Given the description of an element on the screen output the (x, y) to click on. 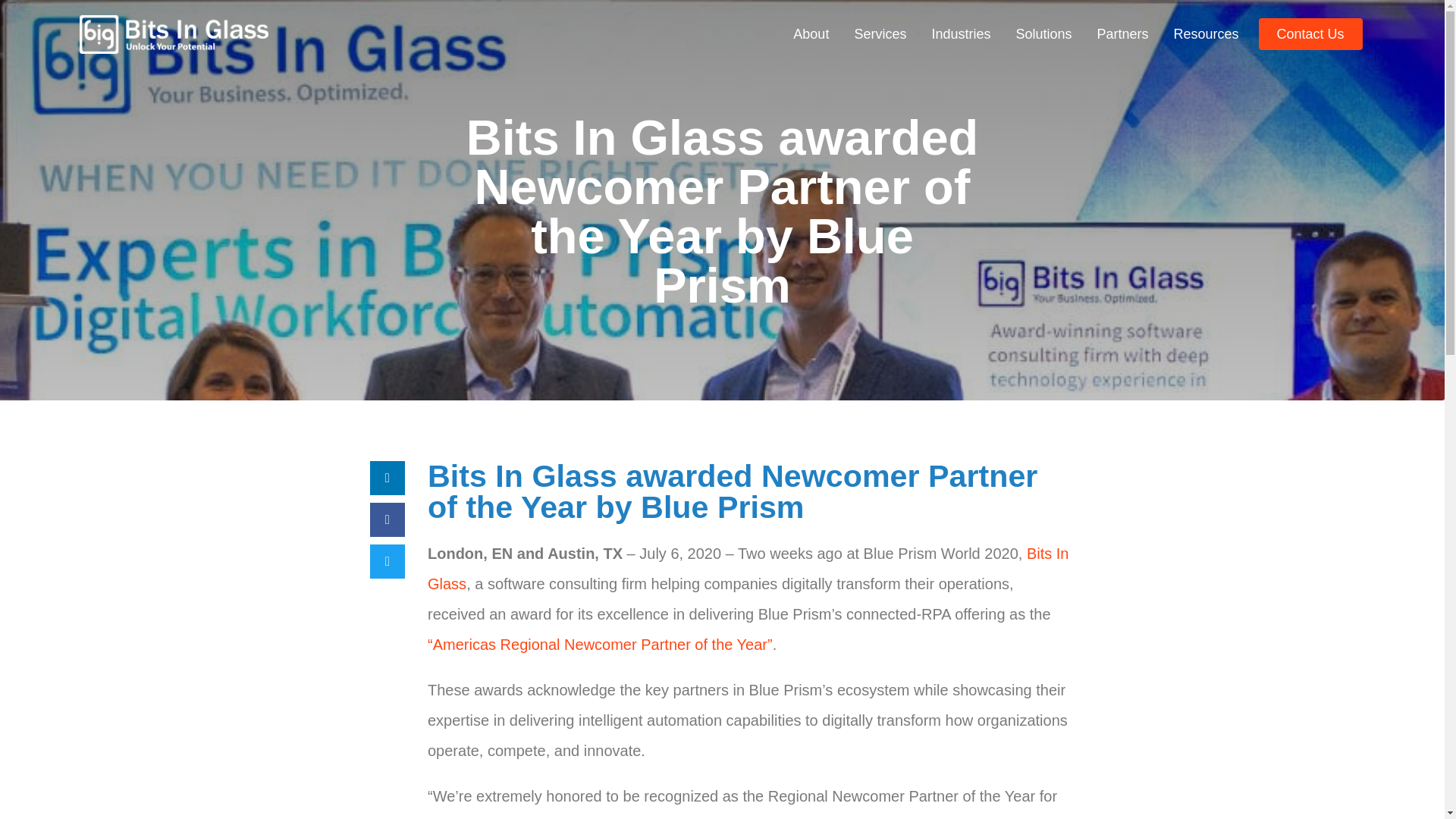
Services (879, 33)
Partners (1122, 33)
Bits In Glass (748, 568)
Industries (960, 33)
Contact Us (1310, 33)
About (810, 33)
Resources (1206, 33)
Solutions (1042, 33)
